Given the description of an element on the screen output the (x, y) to click on. 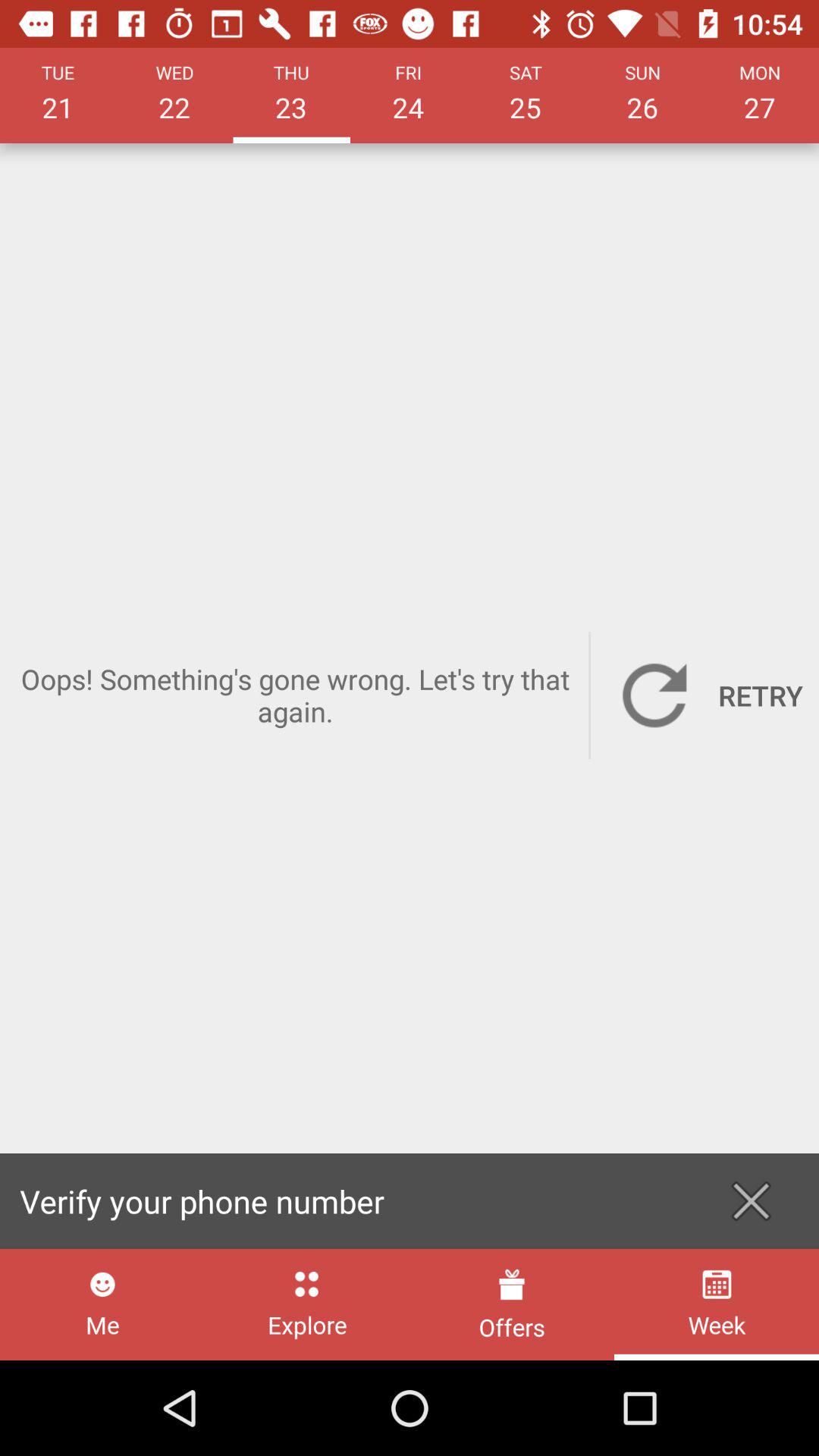
tap the offers item (511, 1304)
